Given the description of an element on the screen output the (x, y) to click on. 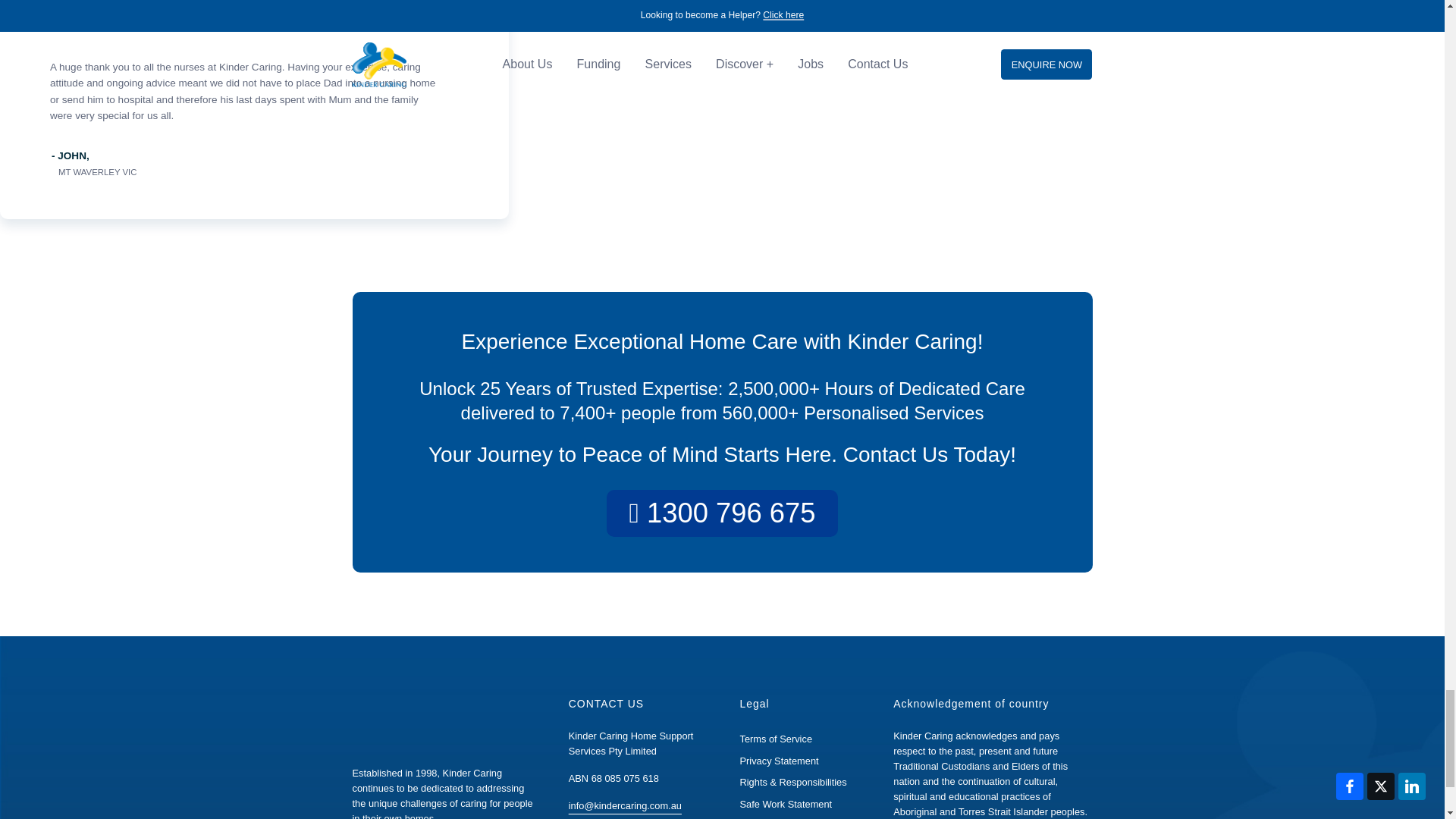
Privacy Statement (778, 760)
Terms of Service (775, 738)
Safe Work Statement (785, 803)
1300 796 675 (722, 513)
